Given the description of an element on the screen output the (x, y) to click on. 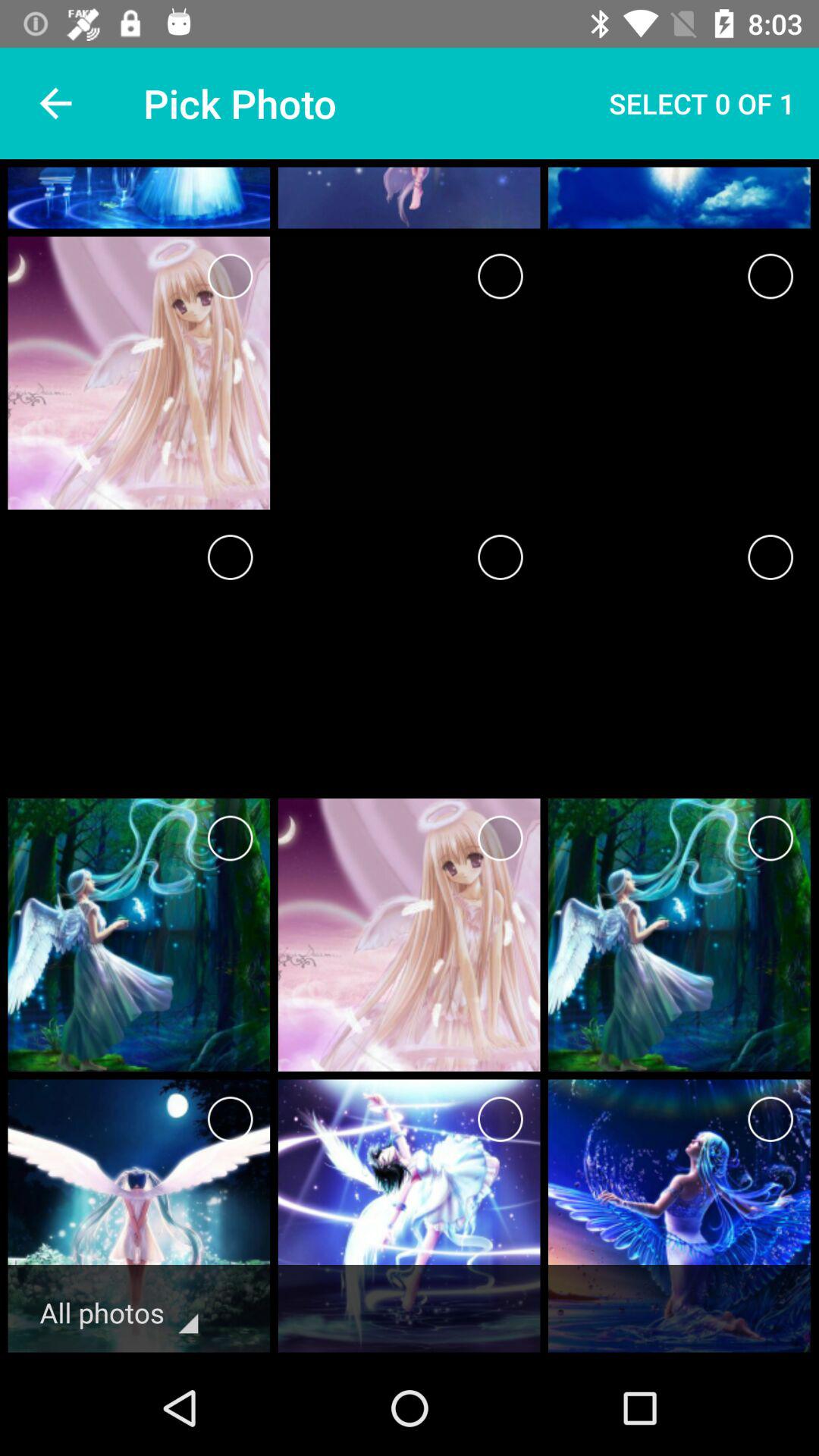
menu (500, 1119)
